Given the description of an element on the screen output the (x, y) to click on. 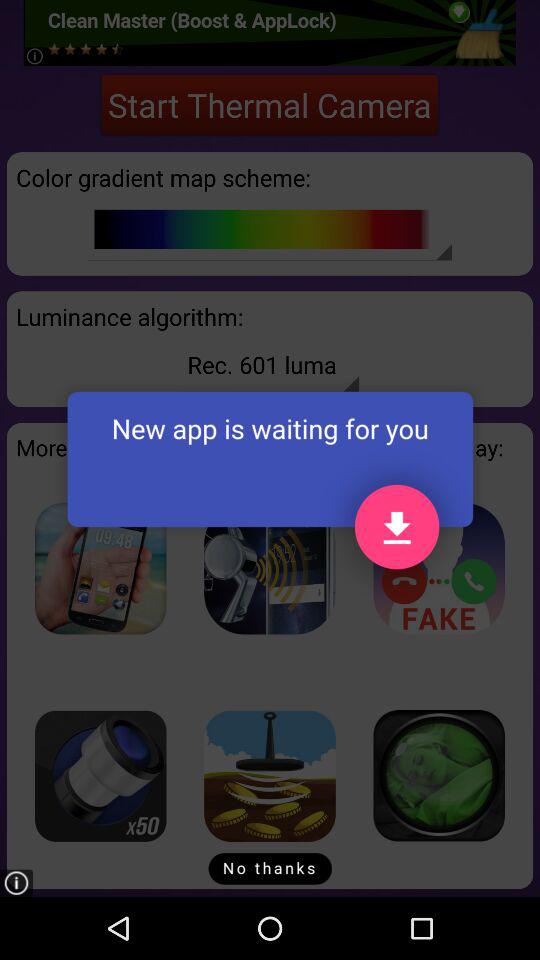
choose the start thermal camera icon (269, 104)
